Given the description of an element on the screen output the (x, y) to click on. 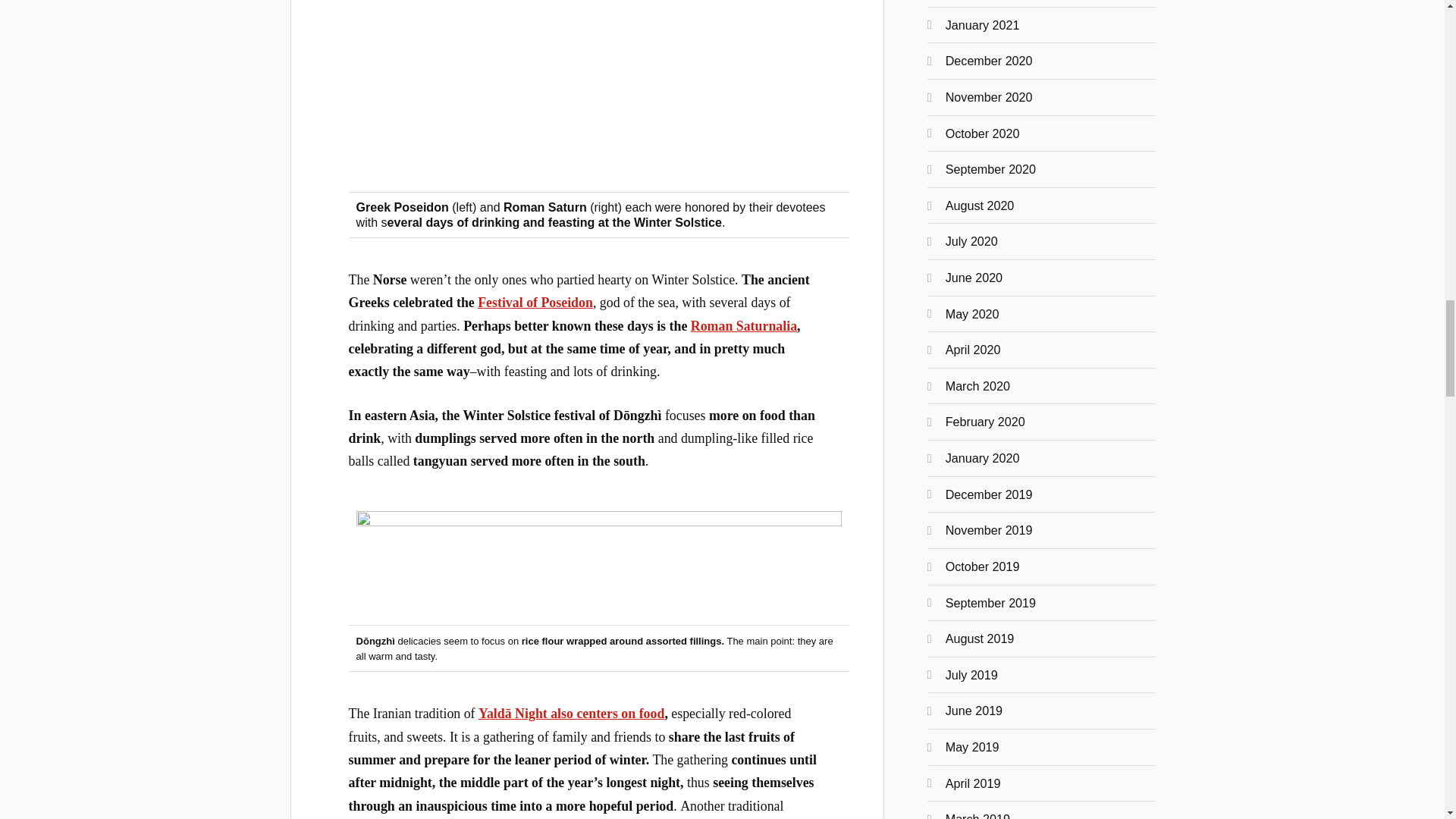
Roman Saturnalia (743, 325)
Festival of Poseidon (534, 302)
